Given the description of an element on the screen output the (x, y) to click on. 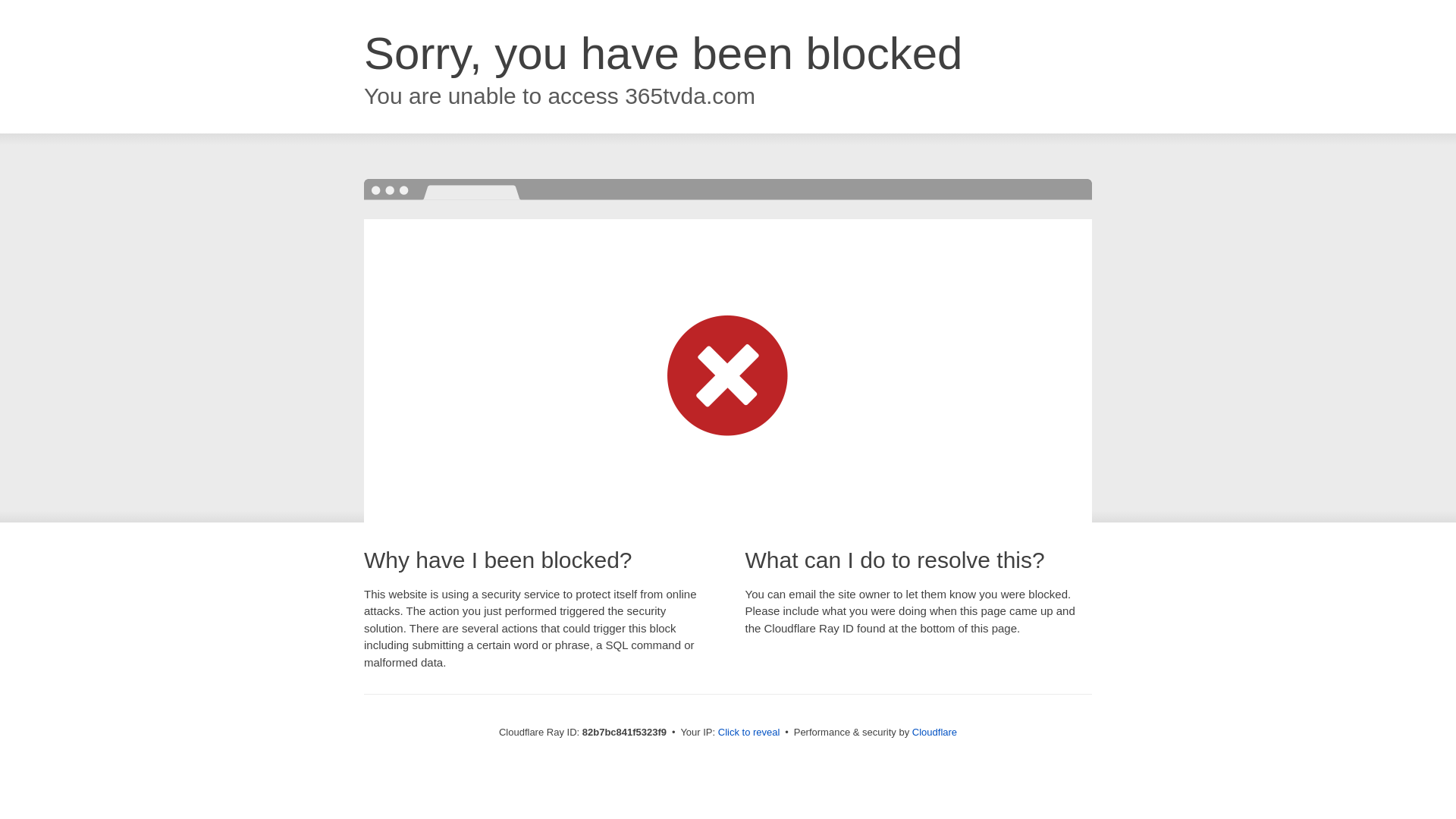
Click to reveal Element type: text (749, 732)
Cloudflare Element type: text (934, 731)
